Given the description of an element on the screen output the (x, y) to click on. 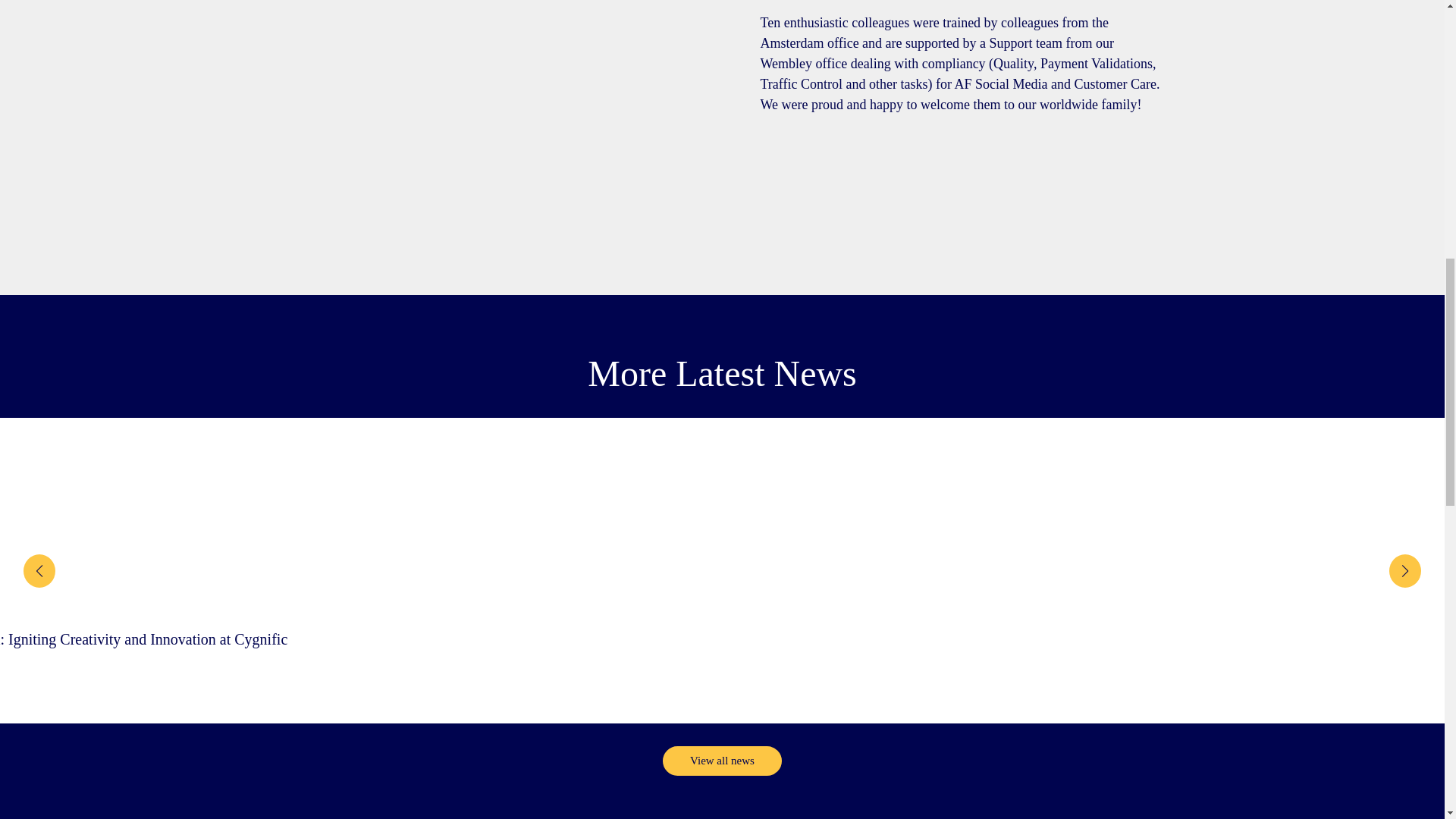
View all news (721, 760)
